Given the description of an element on the screen output the (x, y) to click on. 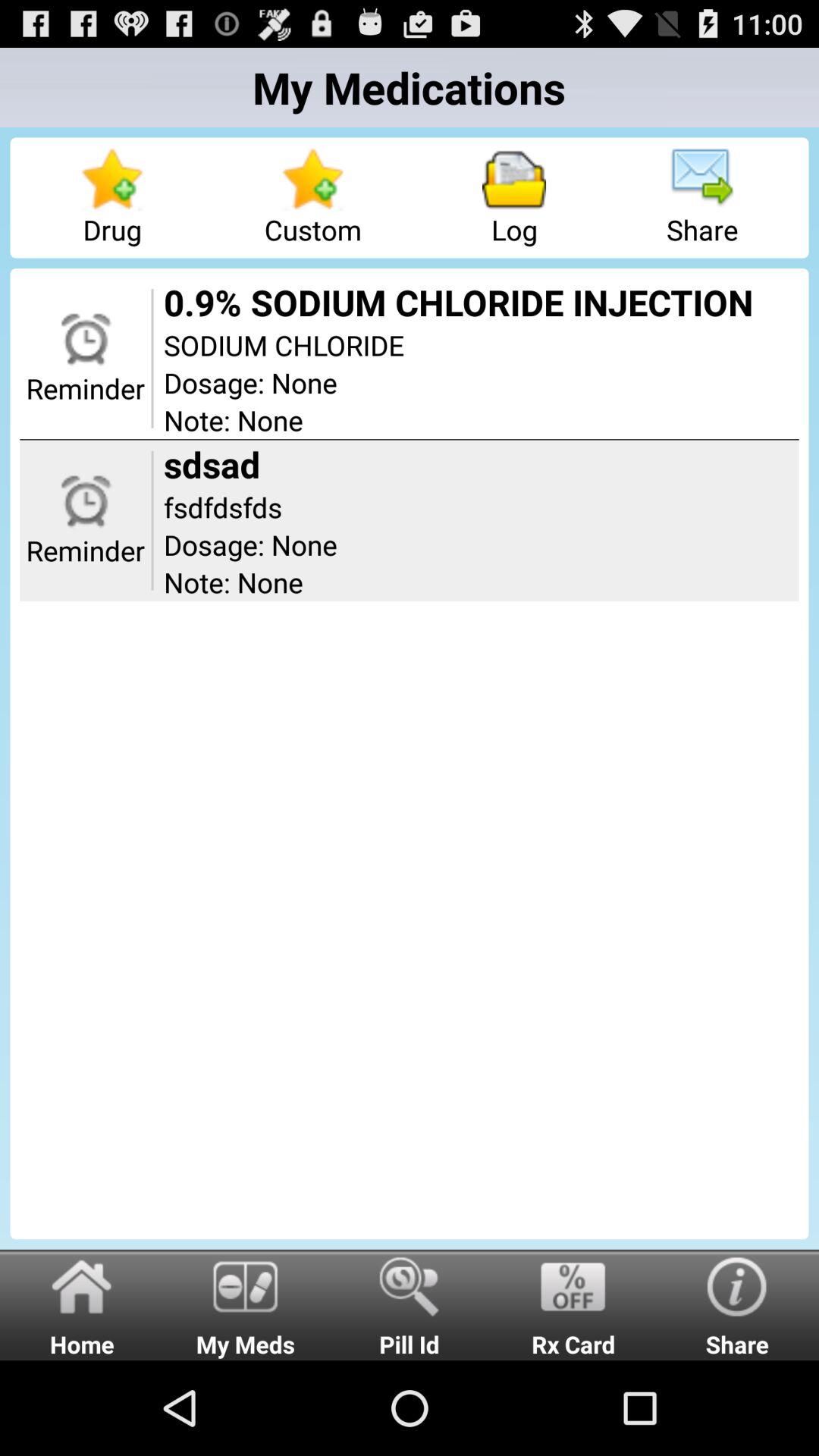
click the icon next to home (245, 1304)
